Given the description of an element on the screen output the (x, y) to click on. 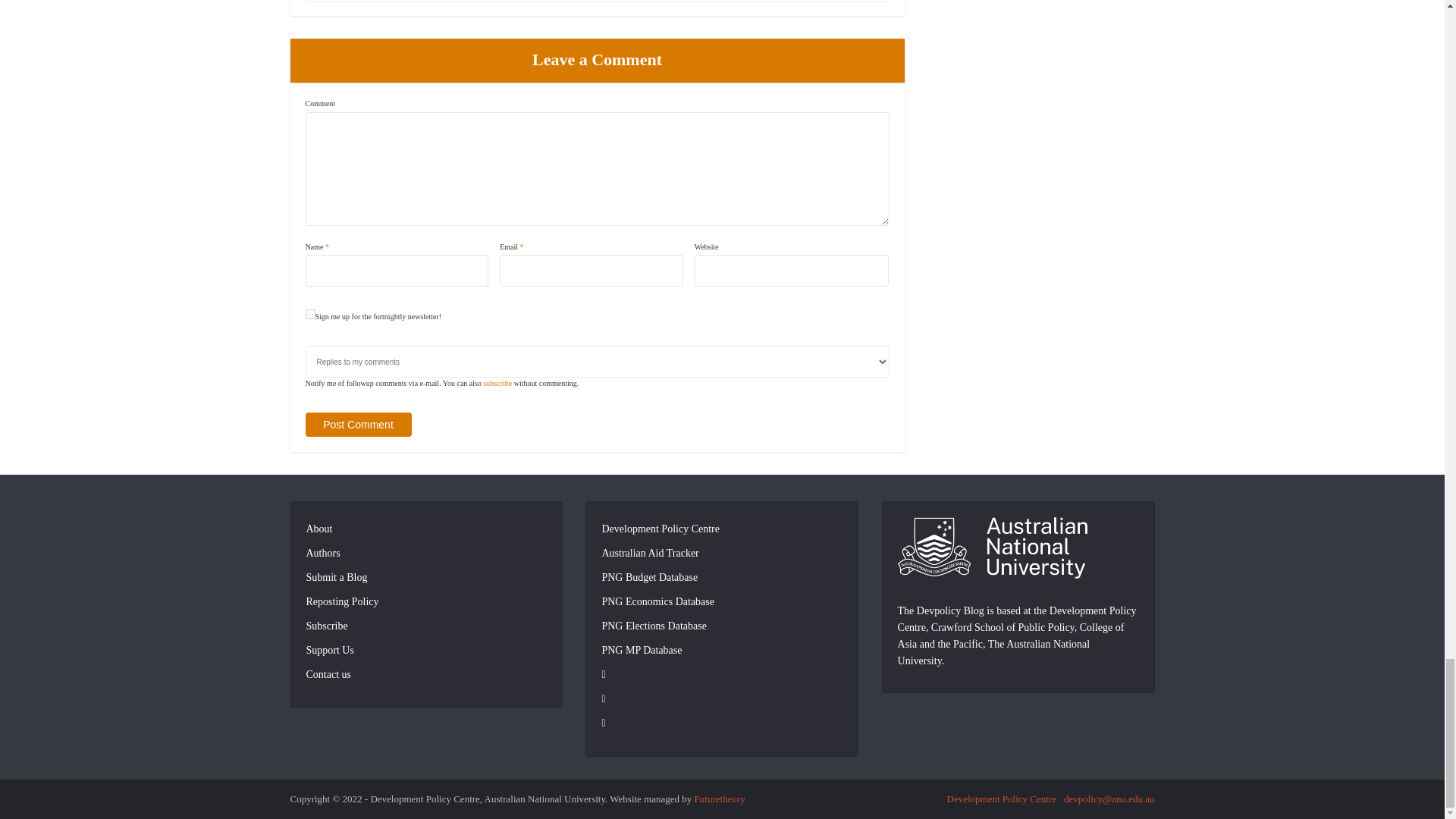
Post Comment (357, 424)
1 (309, 314)
